Given the description of an element on the screen output the (x, y) to click on. 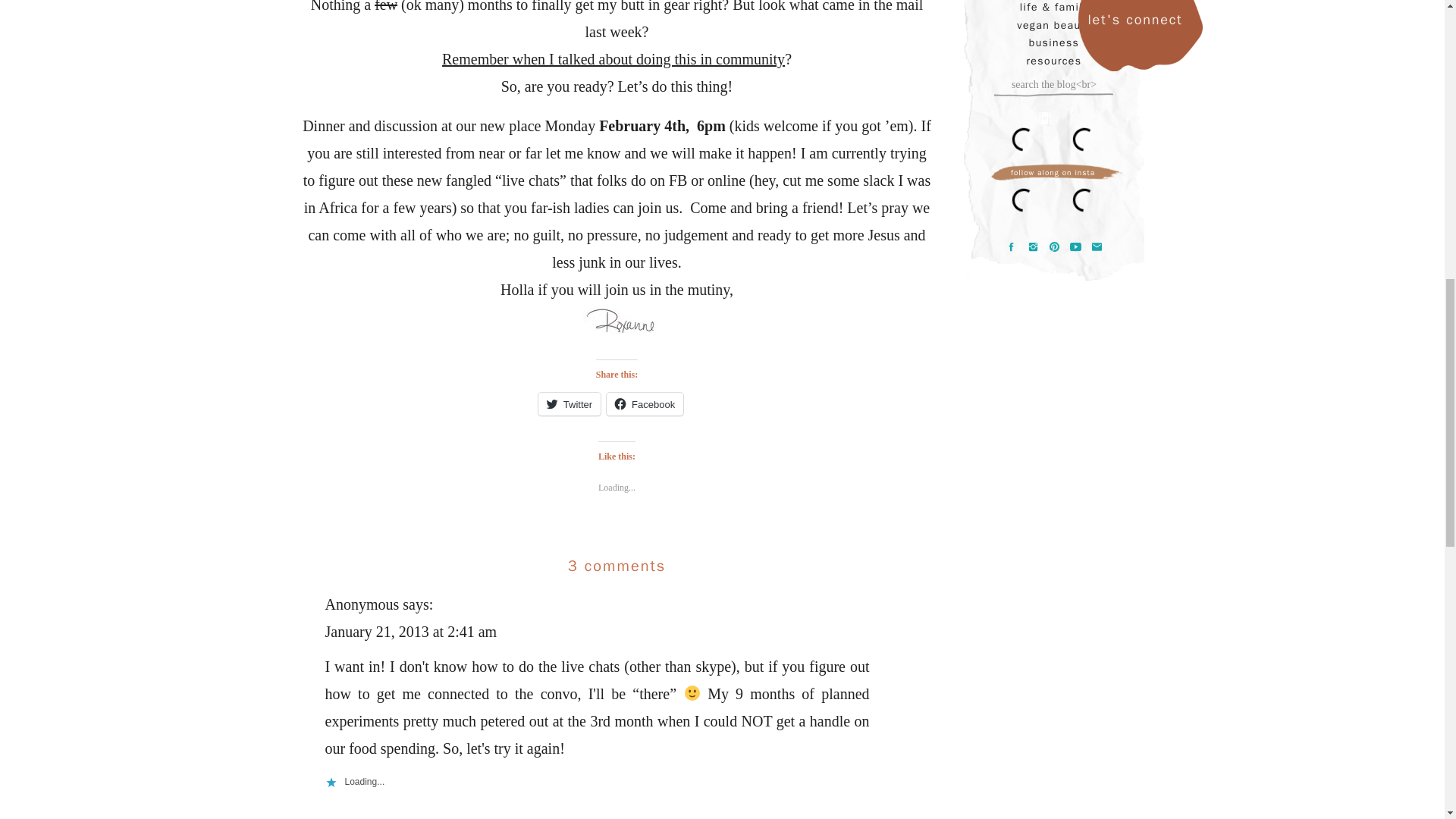
Like or Reblog (616, 534)
follow along on insta (1053, 172)
resources (1053, 61)
Remember when I talked about doing this in community (613, 58)
Click to share on Twitter (568, 404)
Twitter (568, 404)
business (1053, 42)
Click to share on Facebook (644, 404)
January 21, 2013 at 2:41 am (410, 631)
Facebook (644, 404)
Anonymous (361, 604)
vegan beauty (1053, 25)
